Given the description of an element on the screen output the (x, y) to click on. 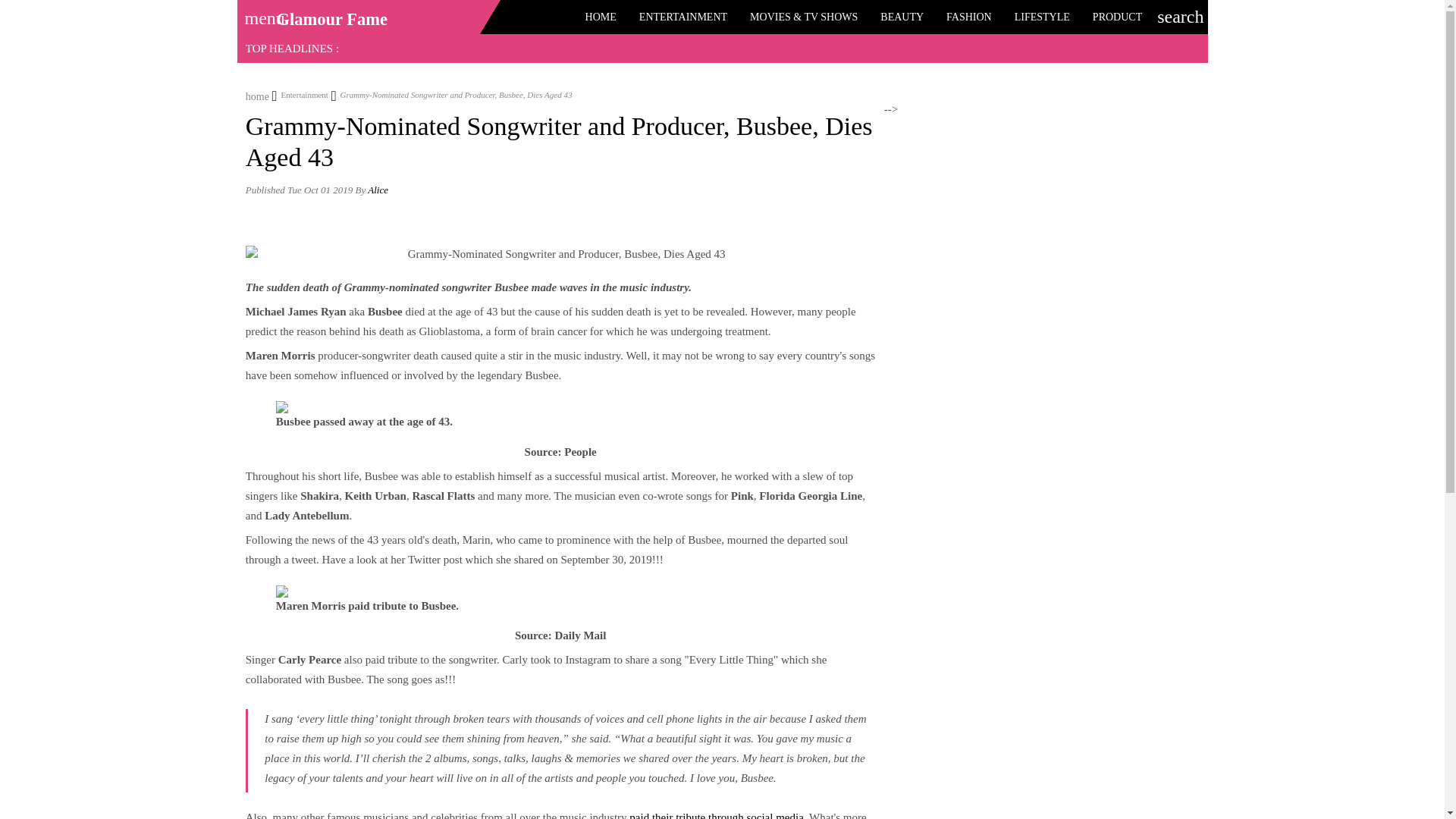
menu (259, 13)
Glamour Fame (331, 18)
paid their tribute through social media (715, 815)
HOME (600, 17)
ENTERTAINMENT (682, 17)
PRODUCT (1117, 17)
LIFESTYLE (1042, 17)
Alice (378, 189)
BEAUTY (901, 17)
FASHION (968, 17)
